Given the description of an element on the screen output the (x, y) to click on. 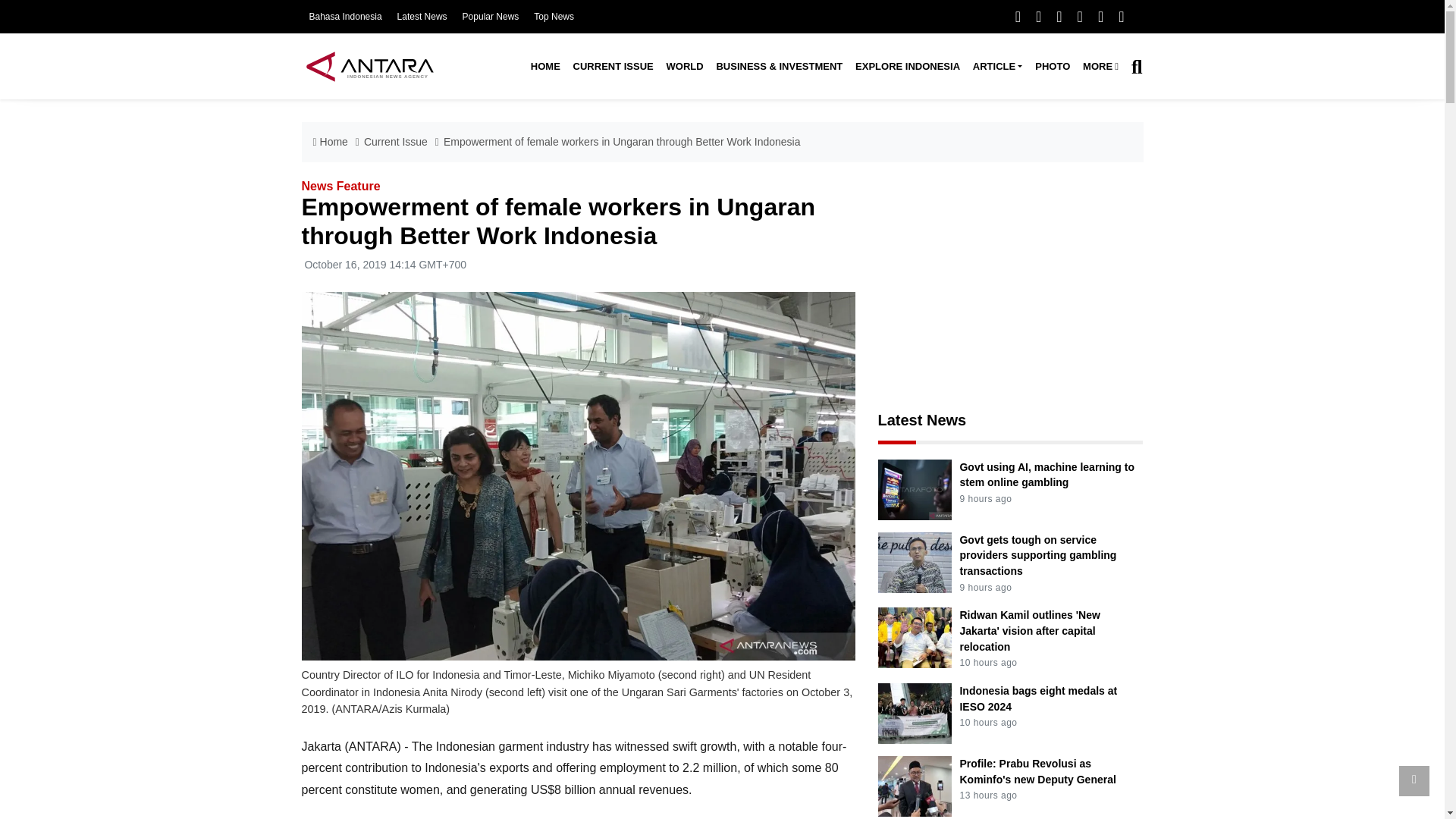
Explore Indonesia (907, 66)
Popular News (491, 16)
Latest News (421, 16)
ANTARA News (369, 66)
Current Issue (612, 66)
EXPLORE INDONESIA (907, 66)
Article (996, 66)
Bahasa Indonesia (344, 16)
Top News (553, 16)
